Given the description of an element on the screen output the (x, y) to click on. 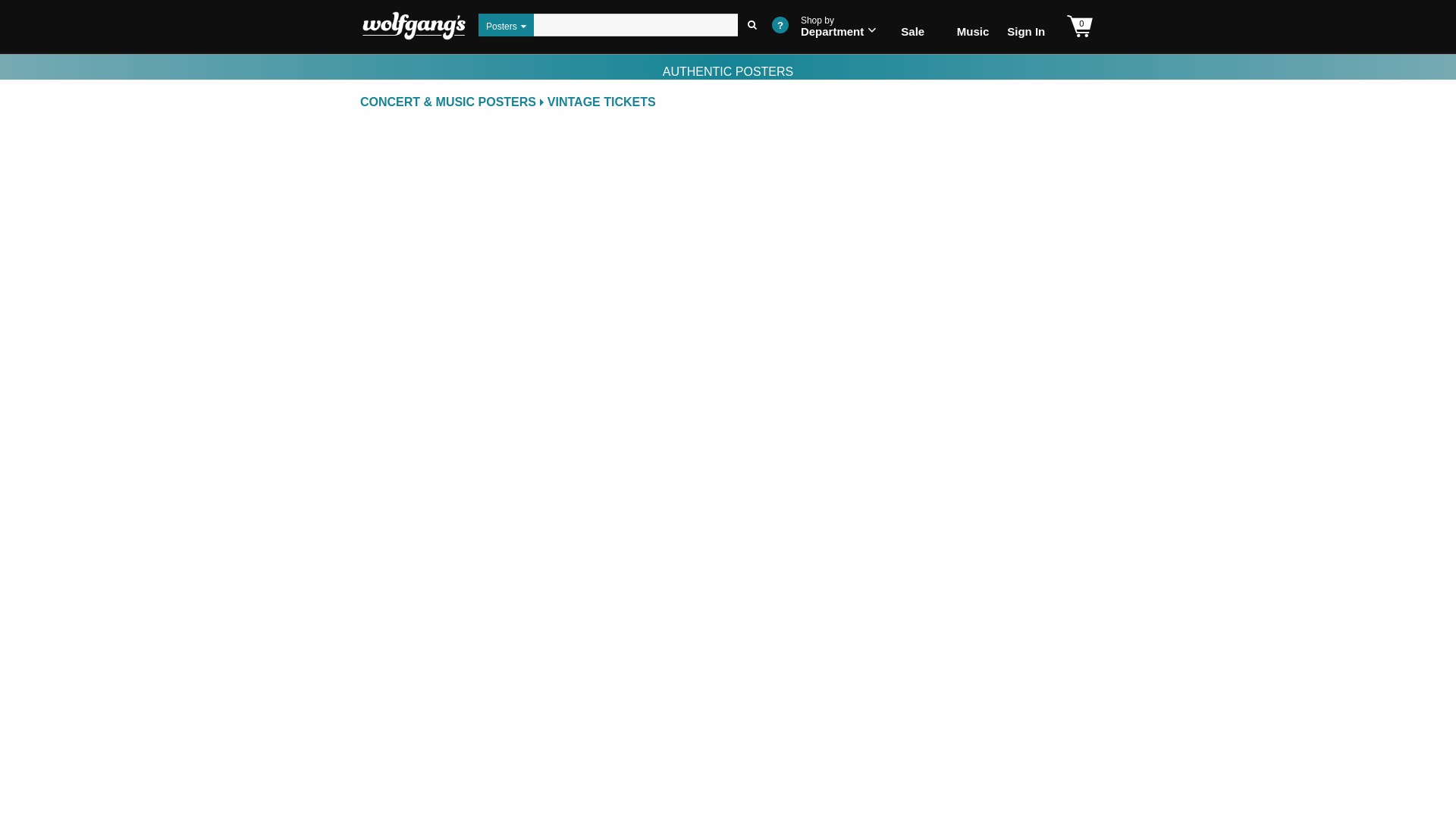
Posters (506, 24)
  Music (970, 25)
? (838, 25)
Go (779, 24)
  Sale (751, 24)
